Given the description of an element on the screen output the (x, y) to click on. 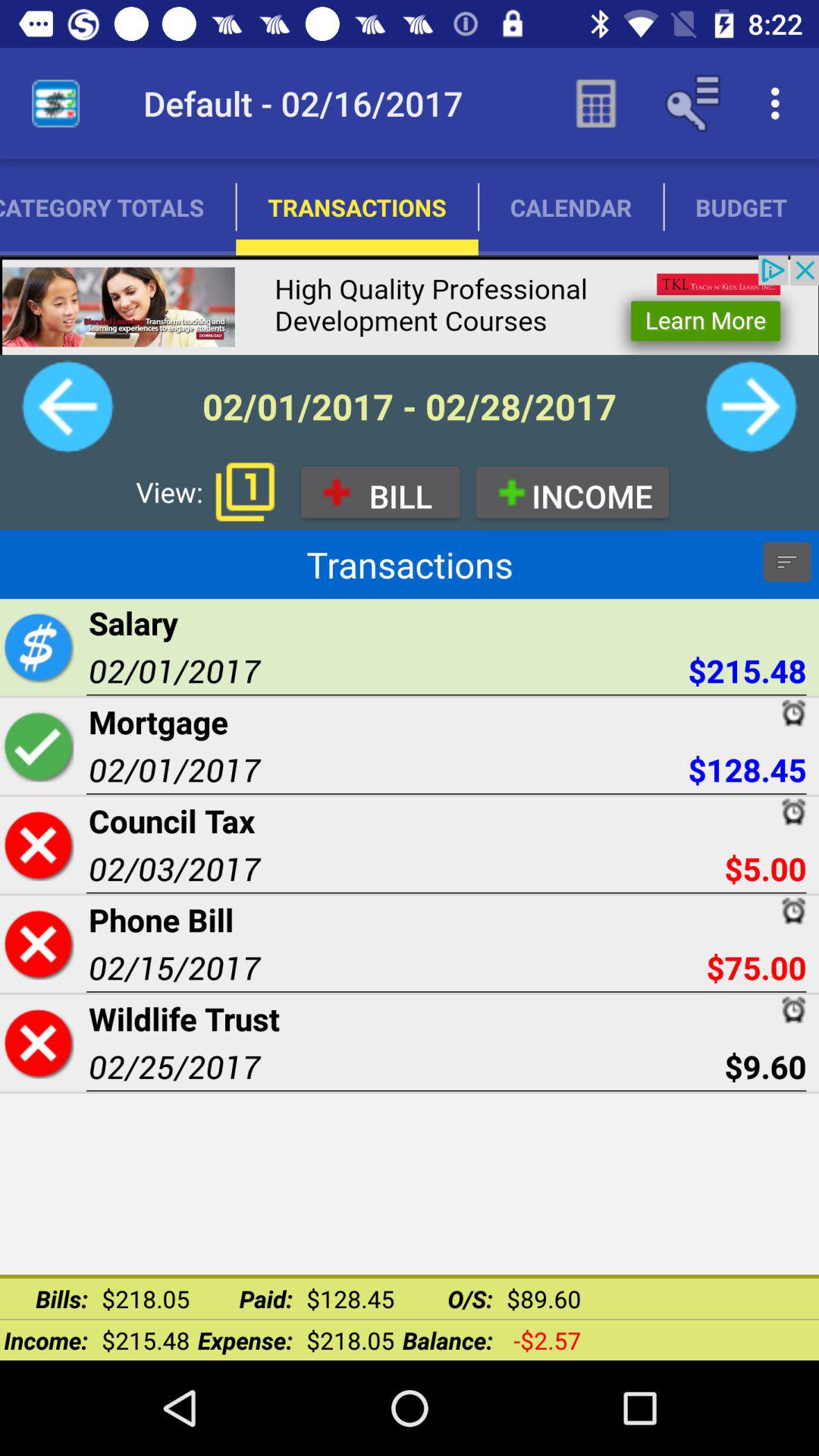
advertisement (409, 304)
